Given the description of an element on the screen output the (x, y) to click on. 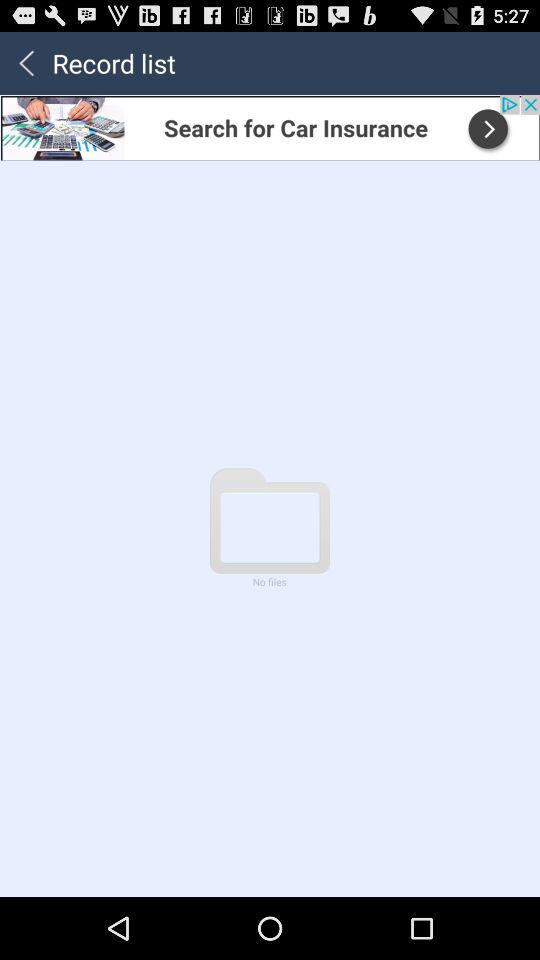
notifications (270, 127)
